Given the description of an element on the screen output the (x, y) to click on. 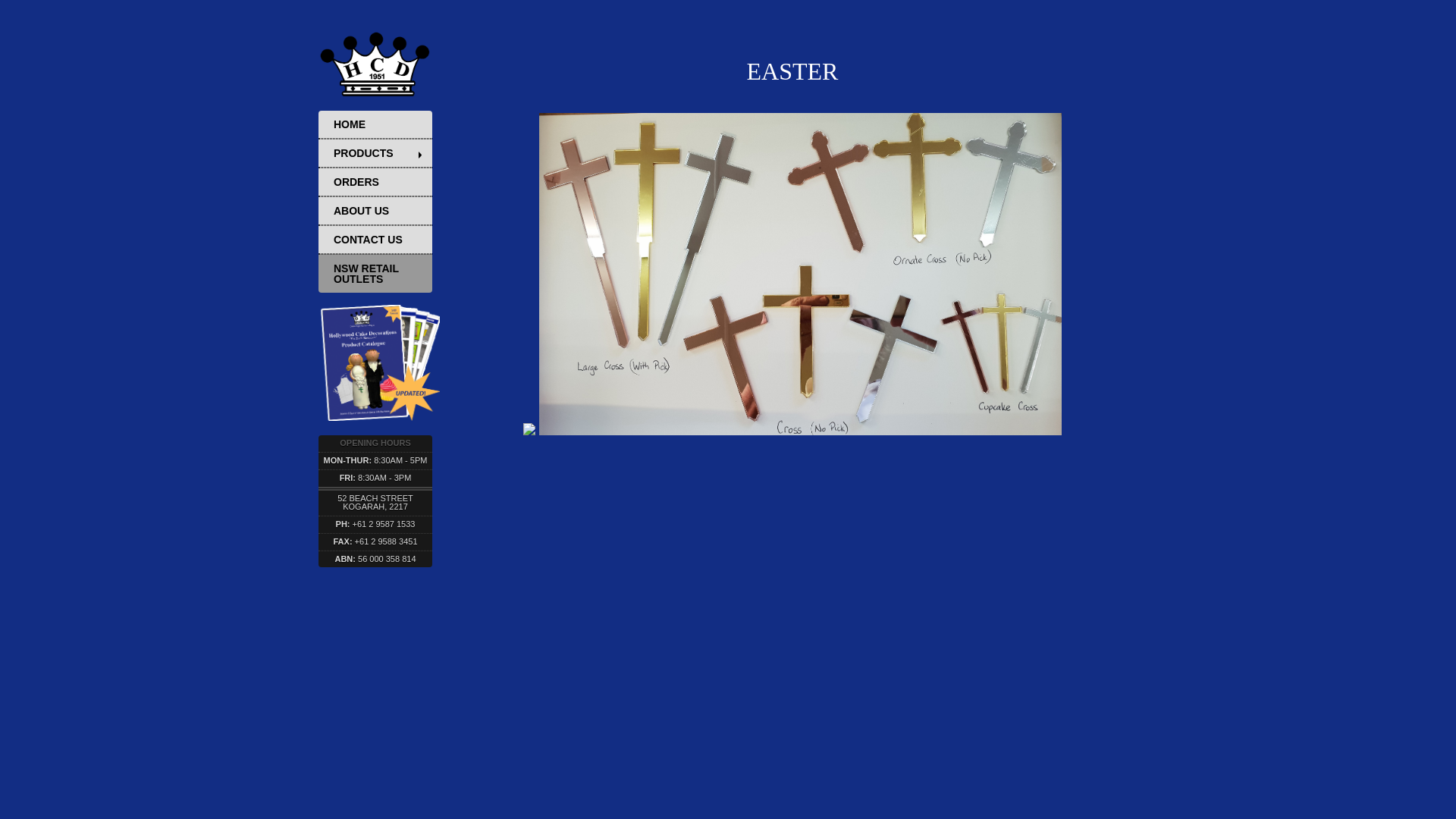
ABOUT US Element type: text (375, 210)
PRODUCTS Element type: text (375, 152)
NSW RETAIL OUTLETS Element type: text (375, 273)
CONTACT US Element type: text (375, 239)
ORDERS Element type: text (375, 181)
HOME Element type: text (375, 124)
